Given the description of an element on the screen output the (x, y) to click on. 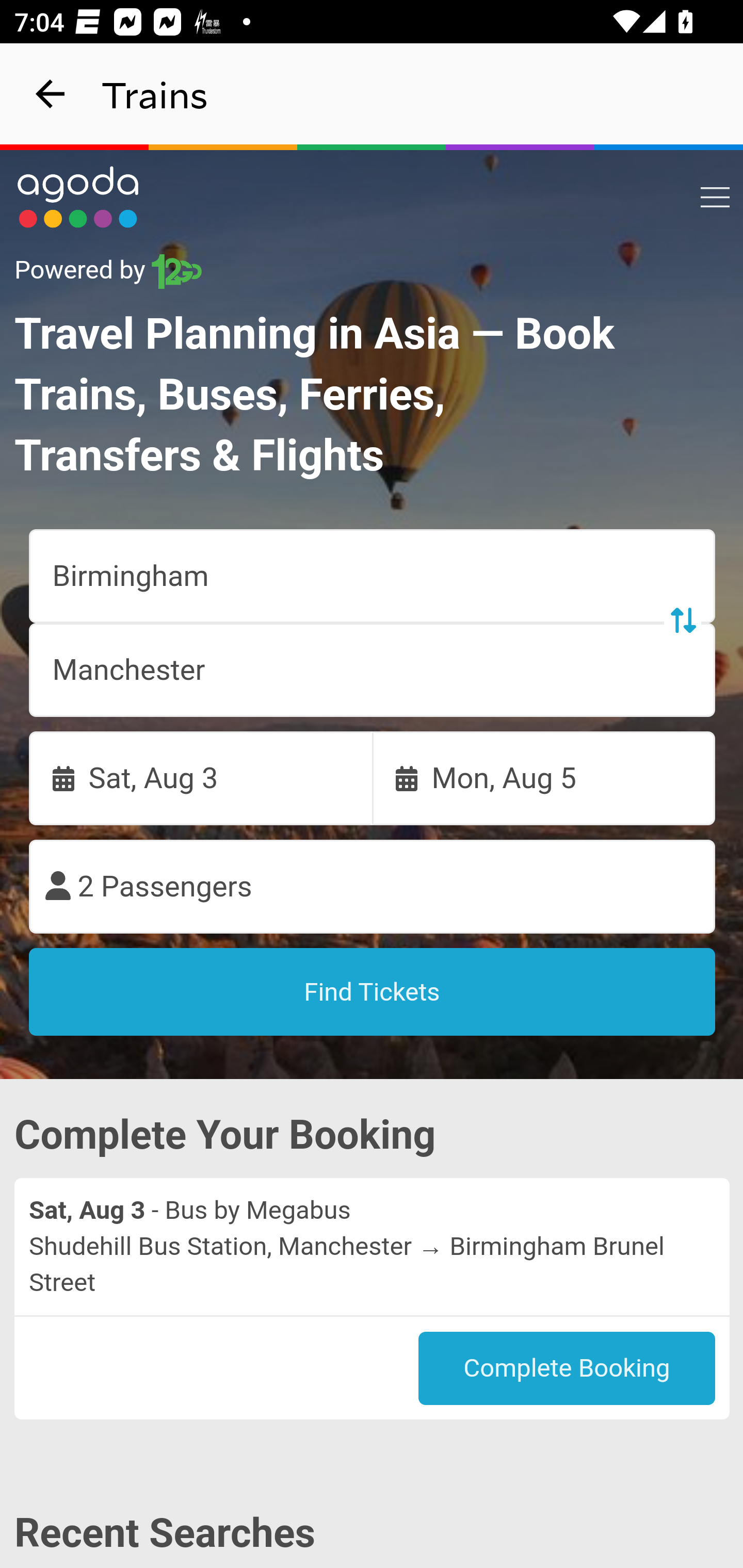
navigation_button (50, 93)
